Given the description of an element on the screen output the (x, y) to click on. 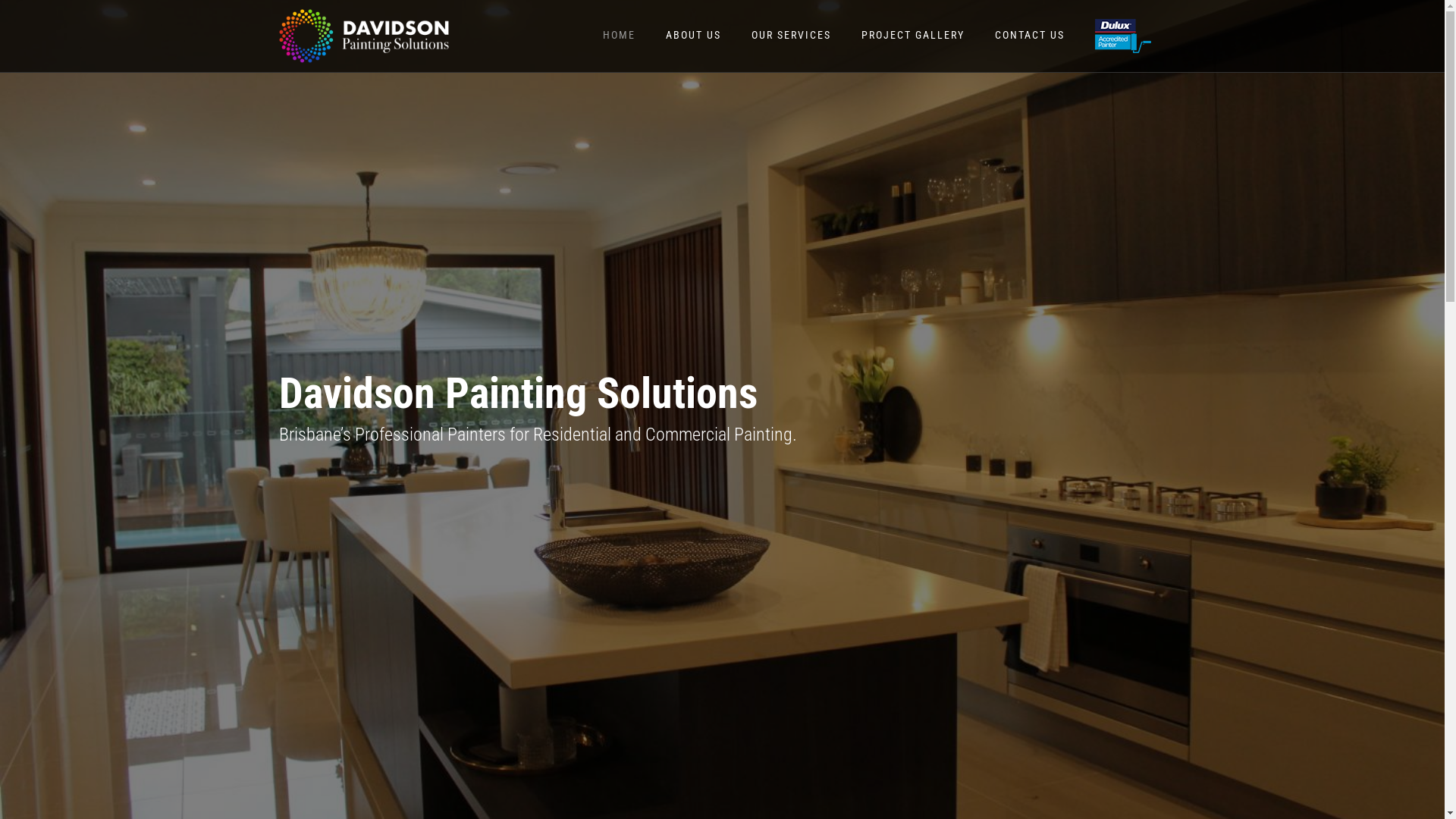
HOME Element type: text (618, 34)
CONTACT US Element type: text (1028, 34)
ABOUT US Element type: text (692, 34)
OUR SERVICES Element type: text (791, 34)
PROJECT GALLERY Element type: text (912, 34)
